Given the description of an element on the screen output the (x, y) to click on. 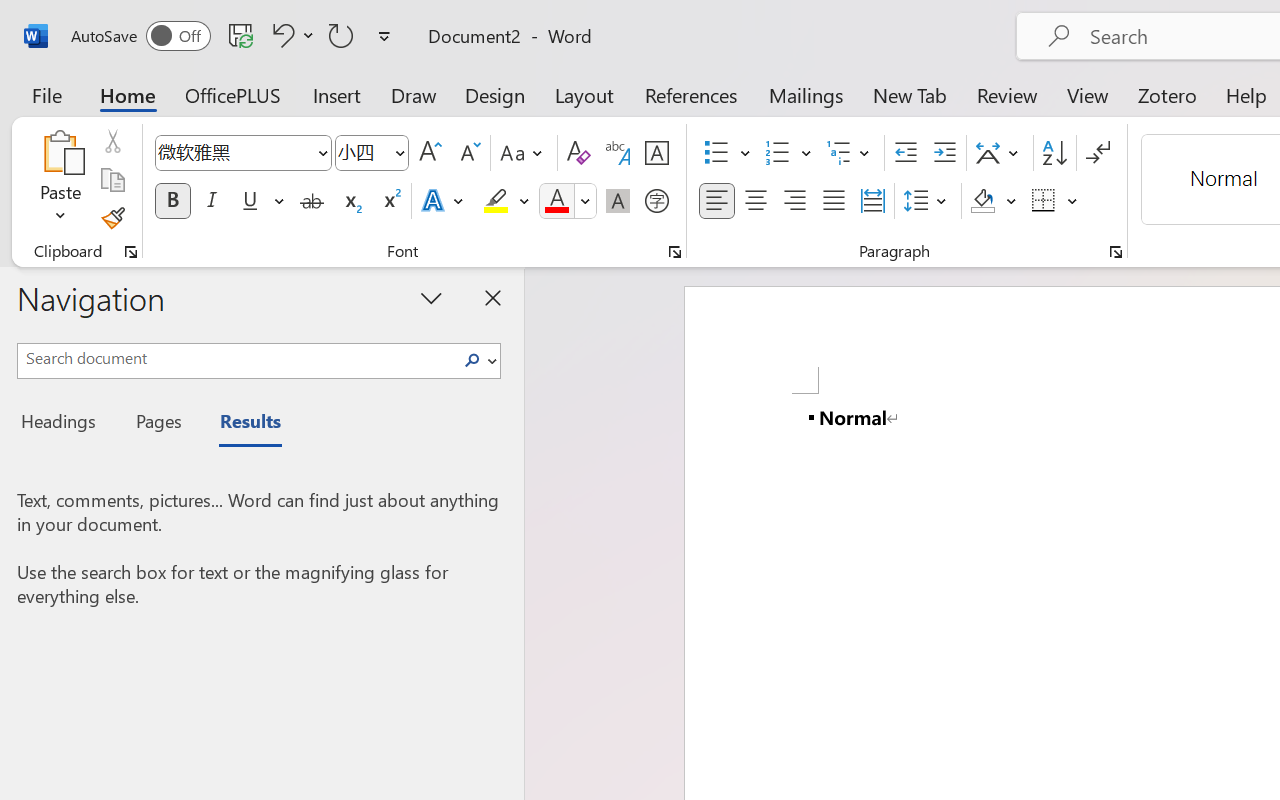
Font... (675, 252)
Grow Font (430, 153)
Multilevel List (850, 153)
Bullets (727, 153)
Center (756, 201)
Borders (1044, 201)
Cut (112, 141)
Align Left (716, 201)
Layout (584, 94)
Asian Layout (1000, 153)
Character Shading (618, 201)
References (690, 94)
Text Highlight Color (506, 201)
Strikethrough (312, 201)
Review (1007, 94)
